Given the description of an element on the screen output the (x, y) to click on. 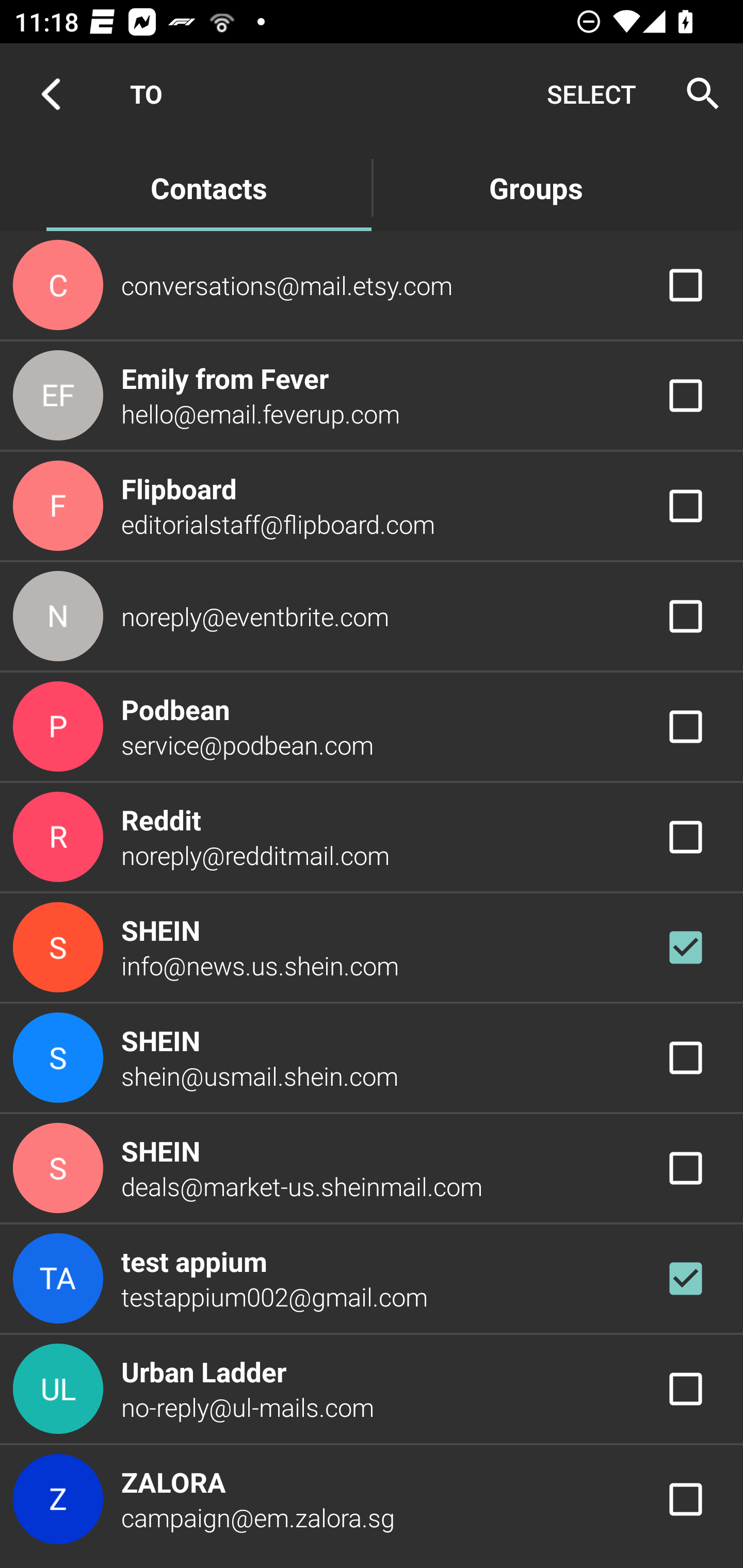
Navigate up (50, 93)
SELECT (590, 93)
Search (696, 93)
Contacts (208, 187)
Groups (535, 187)
conversations@mail.etsy.com (371, 284)
Emily from Fever hello@email.feverup.com (371, 395)
Flipboard editorialstaff@flipboard.com (371, 505)
noreply@eventbrite.com (371, 616)
Podbean service@podbean.com (371, 726)
Reddit noreply@redditmail.com (371, 836)
SHEIN info@news.us.shein.com (371, 947)
SHEIN shein@usmail.shein.com (371, 1057)
SHEIN deals@market-us.sheinmail.com (371, 1168)
test appium testappium002@gmail.com (371, 1278)
Urban Ladder no-reply@ul-mails.com (371, 1388)
ZALORA campaign@em.zalora.sg (371, 1499)
